Given the description of an element on the screen output the (x, y) to click on. 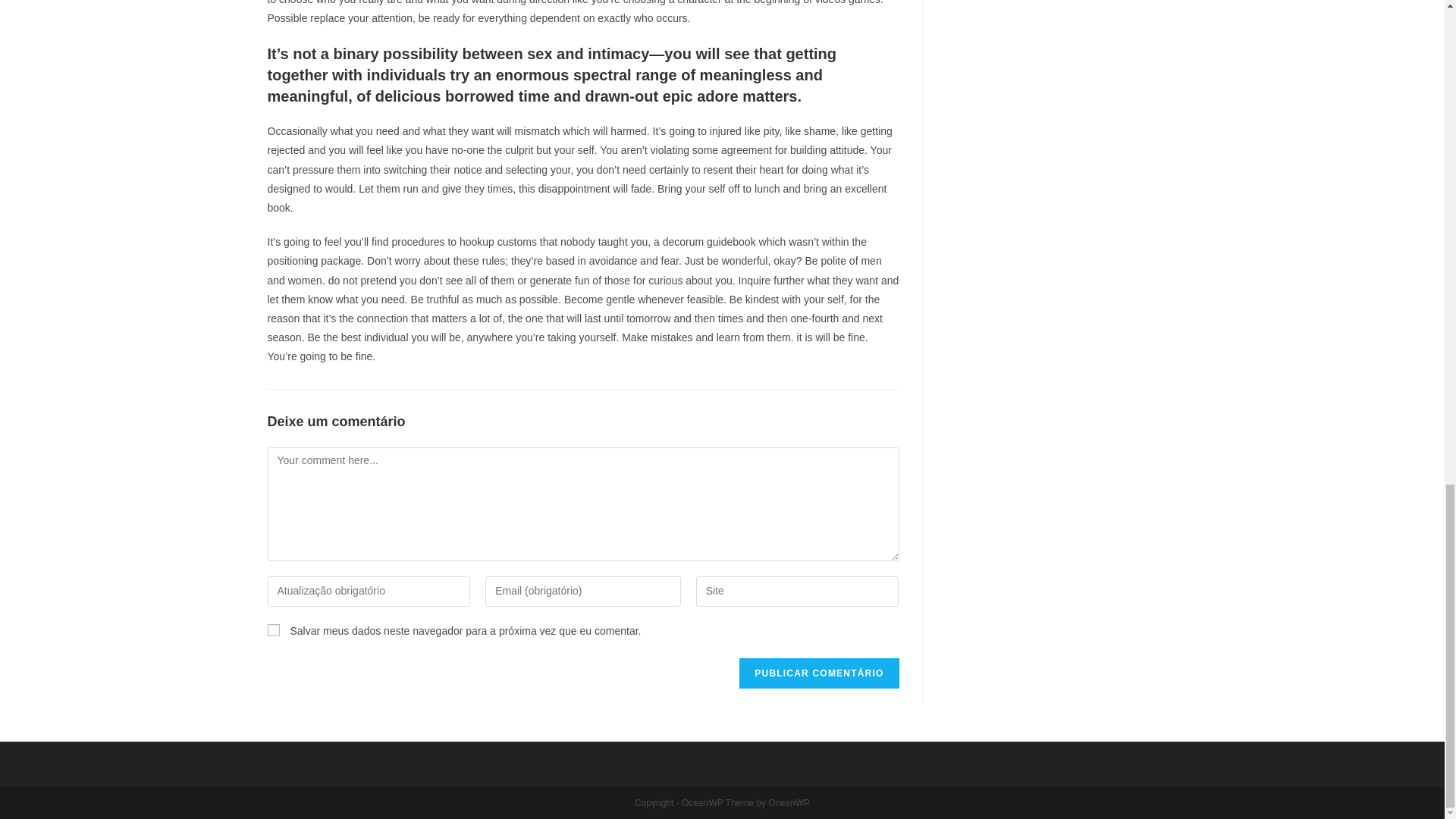
yes (272, 630)
